Given the description of an element on the screen output the (x, y) to click on. 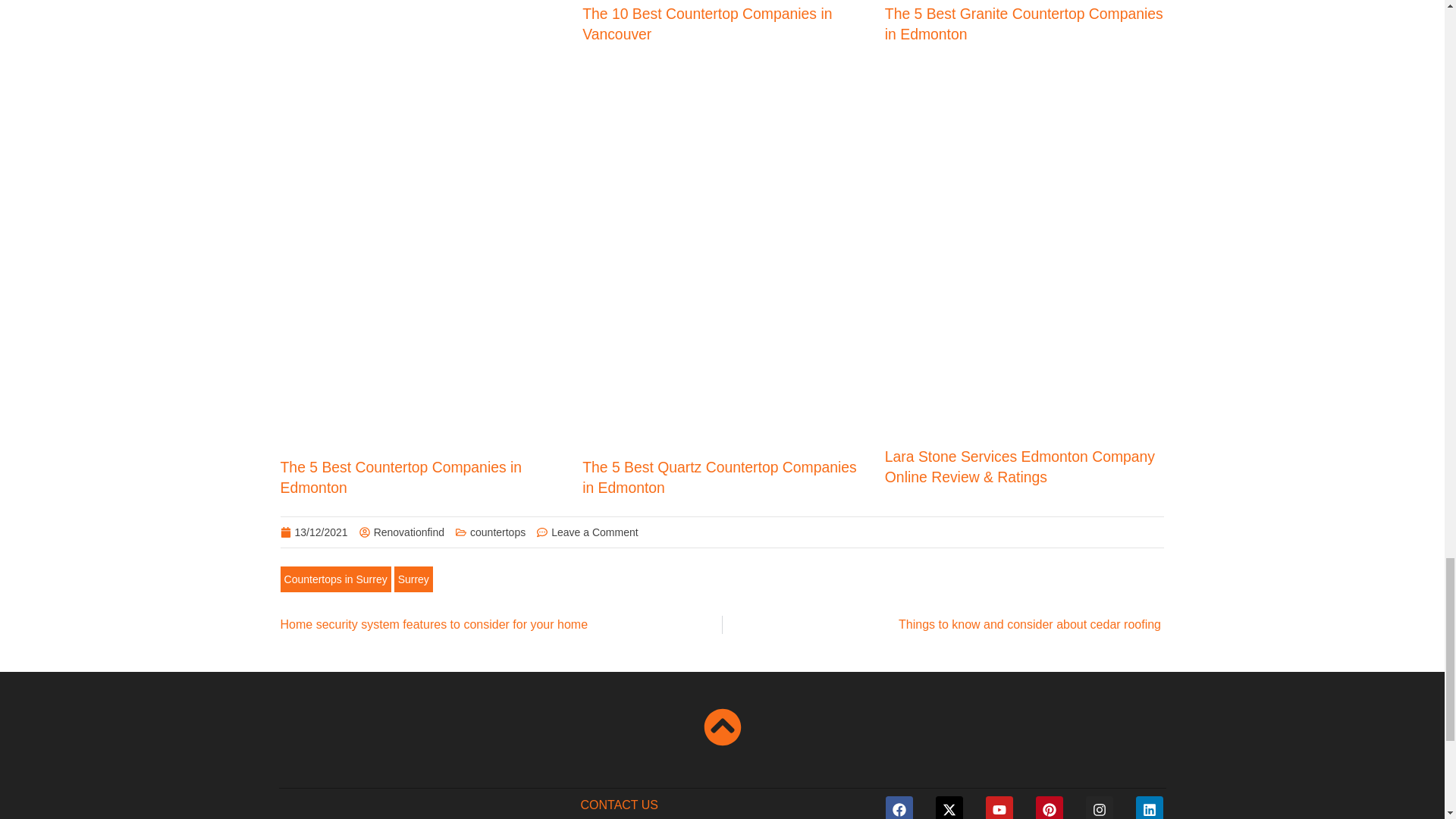
The 5 Best Countertop Companies in Edmonton (401, 477)
The 5 Best Quartz Countertop Companies in Edmonton (719, 477)
The 5 Best Granite Countertop Companies in Edmonton (1024, 23)
The 10 Best Countertop Companies in Vancouver (706, 23)
